Given the description of an element on the screen output the (x, y) to click on. 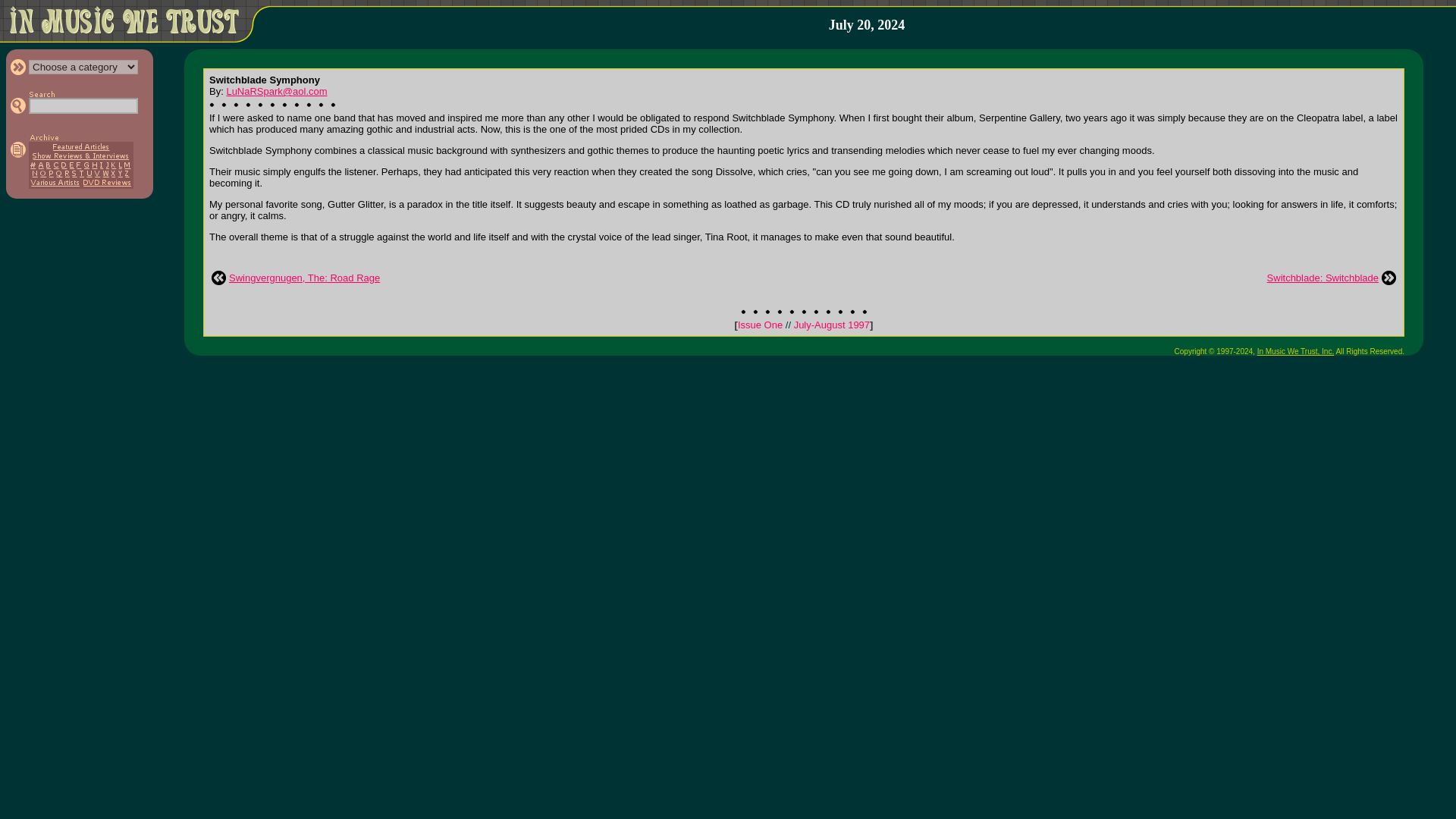
July 20, 2024 (866, 24)
Swingvergnugen, The: Road Rage (304, 277)
Switchblade: Switchblade (1322, 277)
In Music We Trust, Inc. (1296, 351)
